Given the description of an element on the screen output the (x, y) to click on. 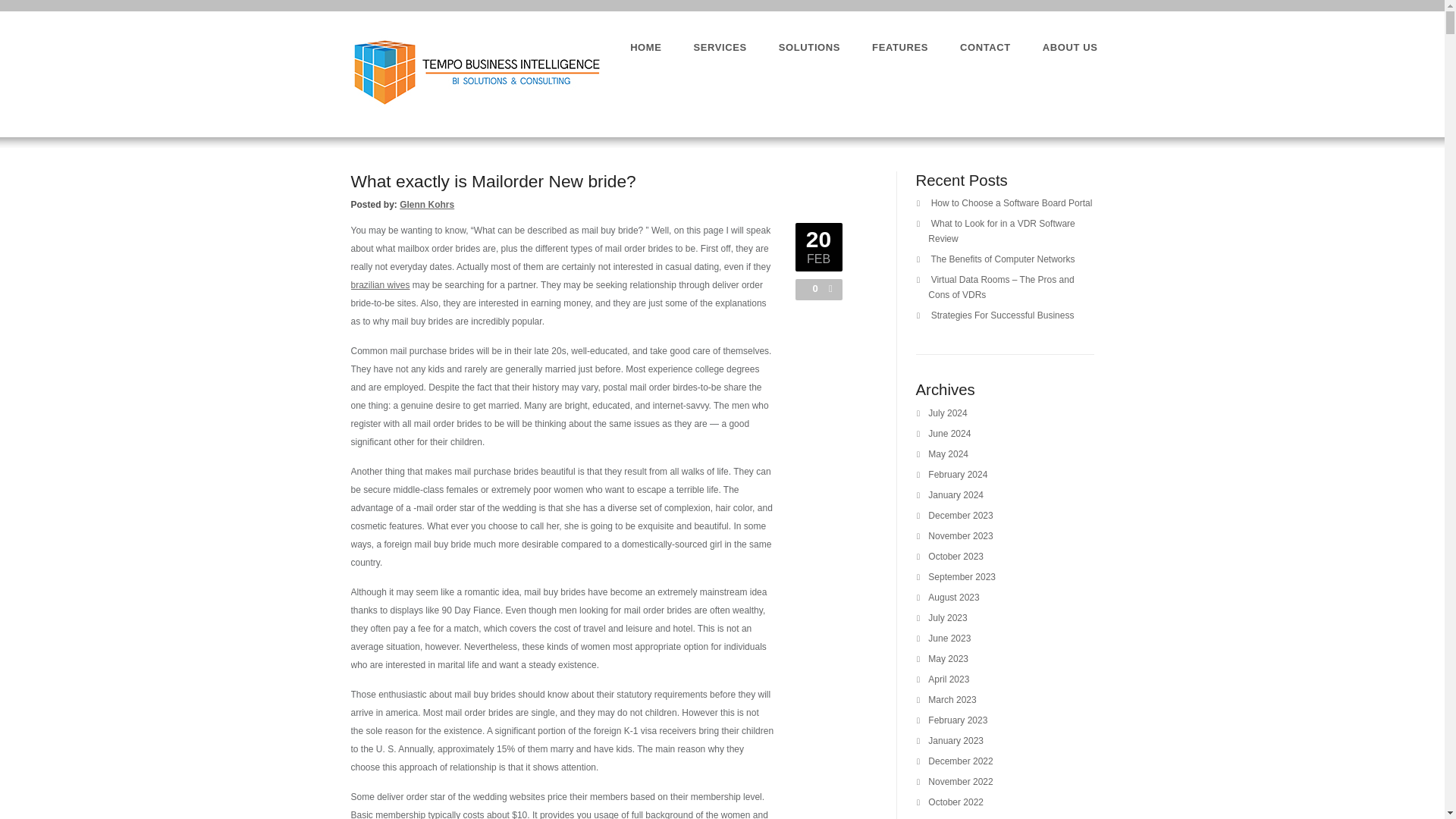
Glenn Kohrs (426, 204)
0 (811, 288)
Strategies For Successful Business (1002, 315)
What to Look for in a VDR Software Review (1001, 231)
brazilian wives (379, 285)
HOME (645, 47)
How to Choose a Software Board Portal (1012, 203)
ABOUT US (1069, 47)
FEATURES (900, 47)
SERVICES (720, 47)
CONTACT (984, 47)
The Benefits of Computer Networks (1002, 258)
SOLUTIONS (809, 47)
Posts by Glenn Kohrs (426, 204)
